Given the description of an element on the screen output the (x, y) to click on. 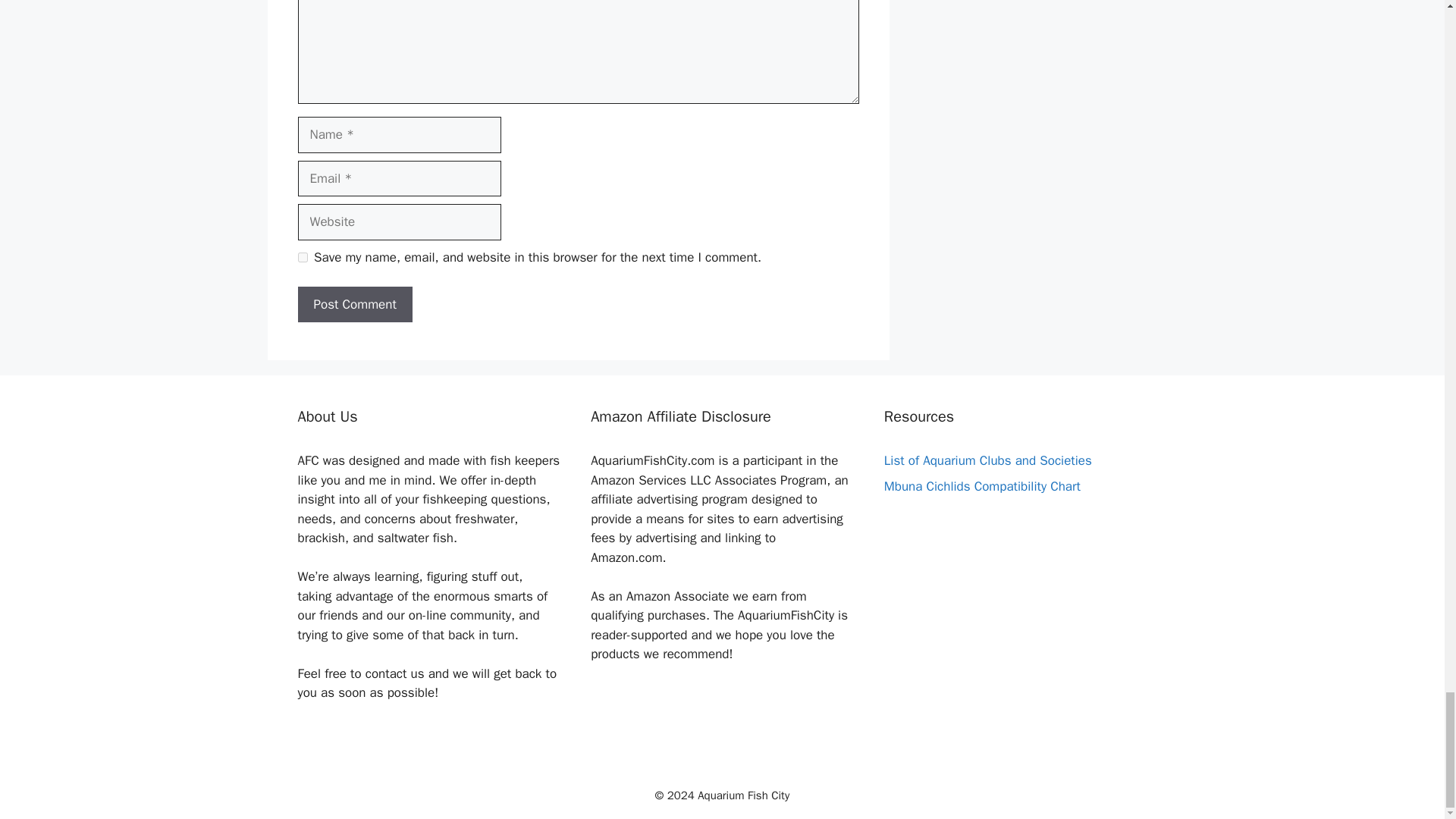
Post Comment (354, 304)
yes (302, 257)
Post Comment (354, 304)
